Given the description of an element on the screen output the (x, y) to click on. 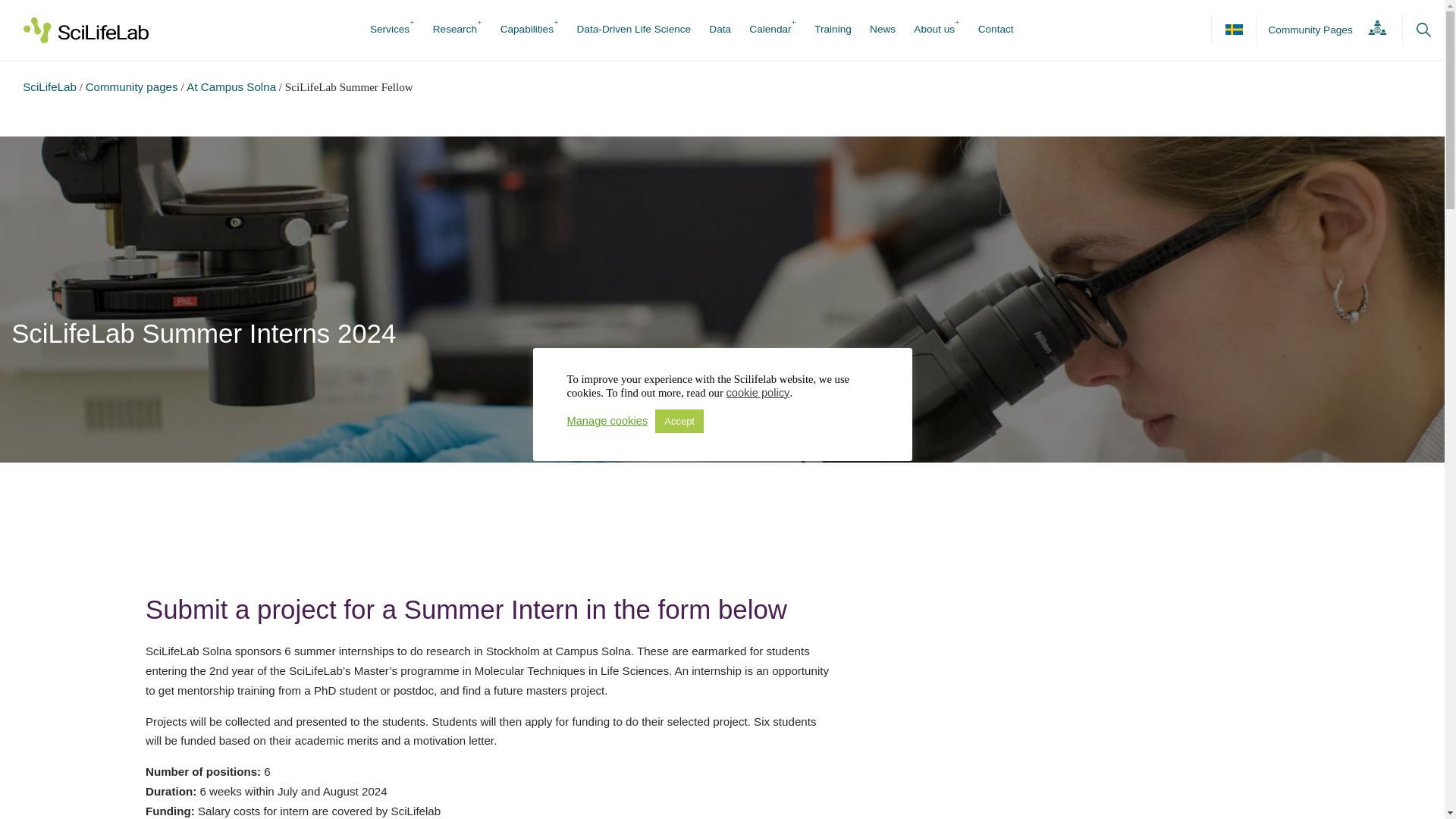
Services (389, 29)
Community Pages (1323, 30)
News (882, 29)
Data (719, 29)
Community pages (131, 86)
At Campus Solna (231, 86)
Go to At Campus Solna. (231, 86)
Research (454, 29)
SciLifeLab (50, 86)
Go to SciLifeLab. (50, 86)
